Given the description of an element on the screen output the (x, y) to click on. 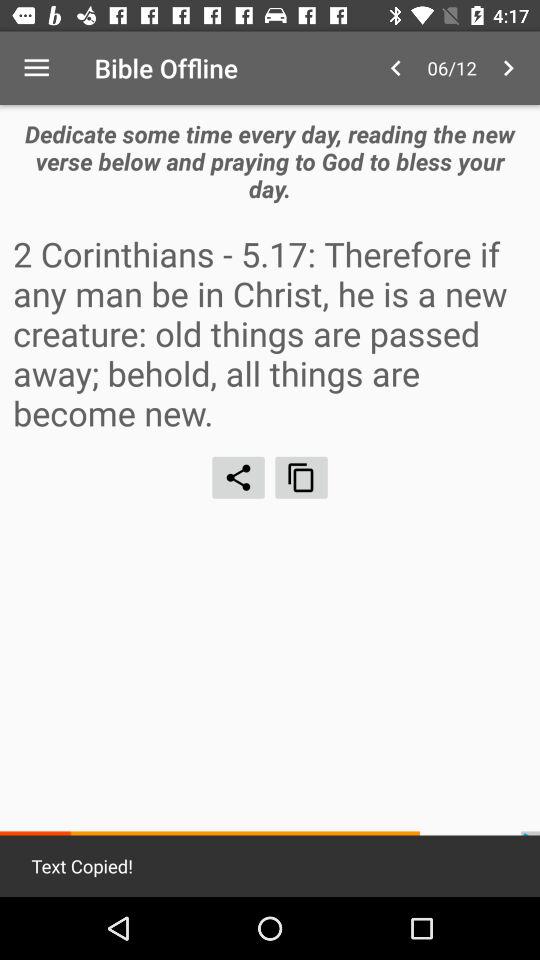
tap the item below 2 corinthians 5 (238, 477)
